Given the description of an element on the screen output the (x, y) to click on. 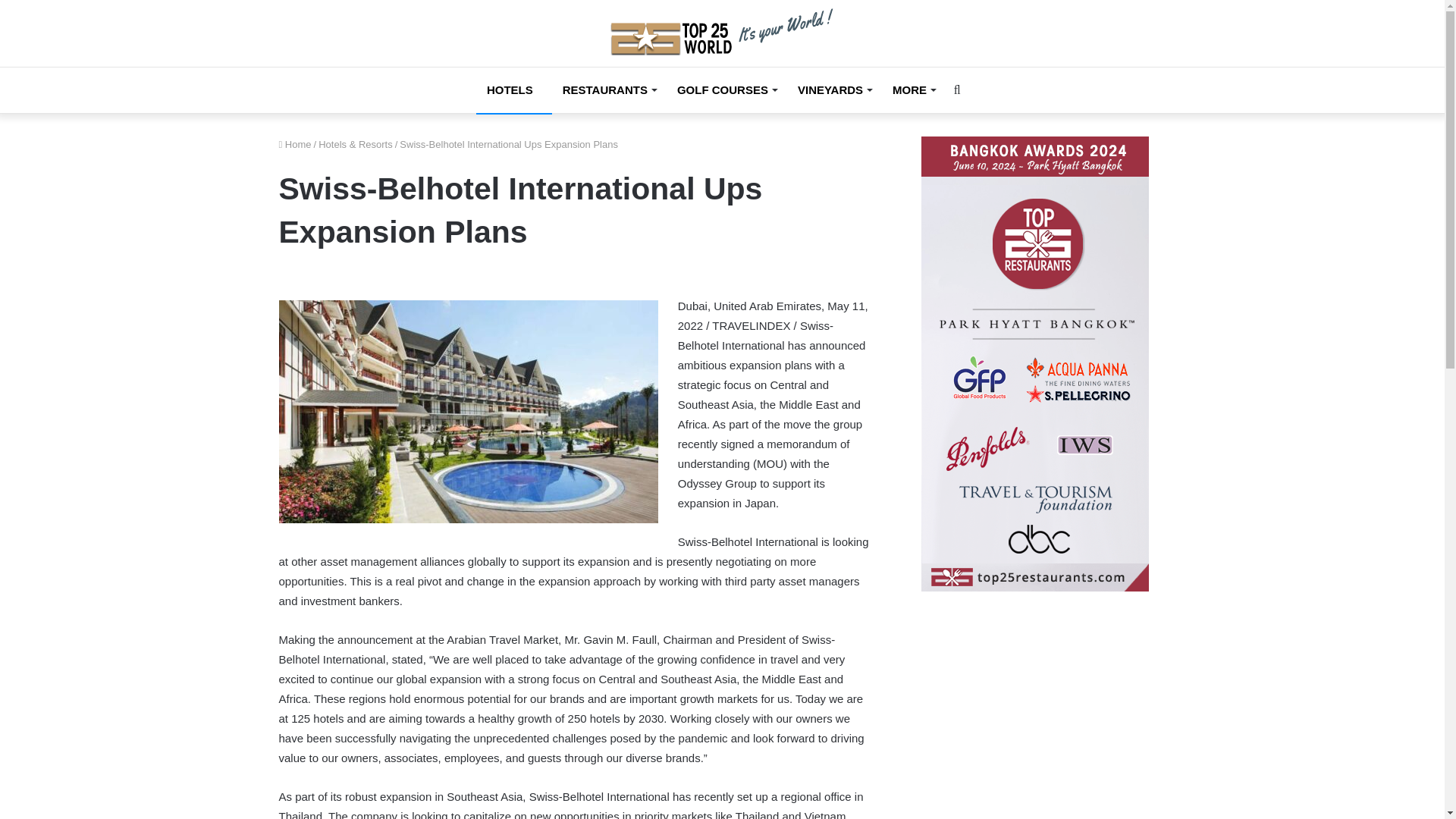
Home (295, 143)
VINEYARDS (834, 90)
MORE (913, 90)
HOTELS (513, 90)
Search for (956, 90)
RESTAURANTS (608, 90)
GOLF COURSES (726, 90)
